Given the description of an element on the screen output the (x, y) to click on. 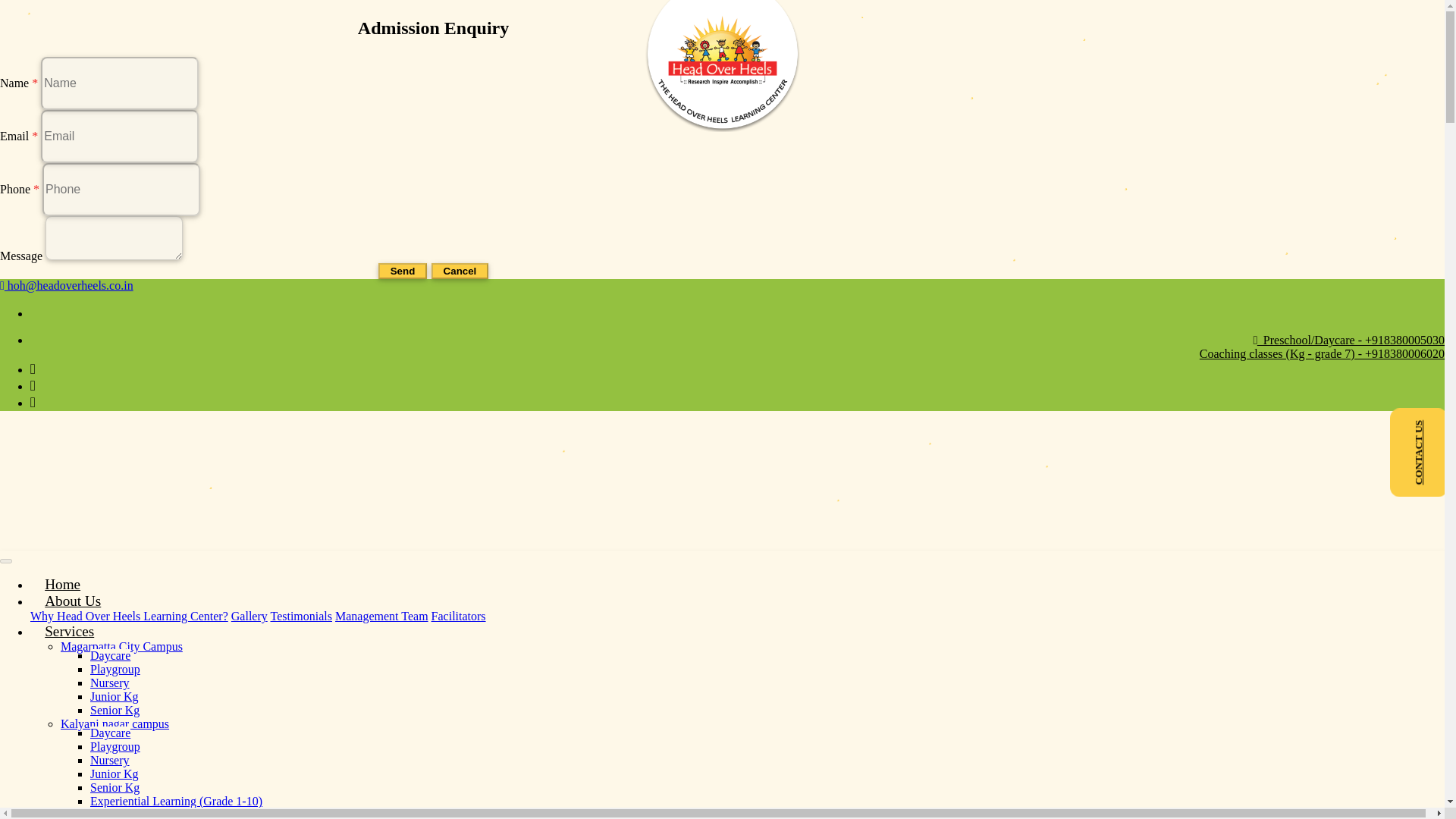
Send (402, 270)
Senior Kg (114, 709)
Daycare (110, 732)
Junior Kg (114, 773)
Management Team (381, 615)
Playgroup (114, 668)
Cancel (458, 270)
About Us (72, 600)
Kalyani nagar campus (114, 723)
Nursery (109, 759)
Services (68, 630)
Facilitators (458, 615)
Playgroup (114, 746)
Testimonials (300, 615)
Nursery (109, 682)
